Given the description of an element on the screen output the (x, y) to click on. 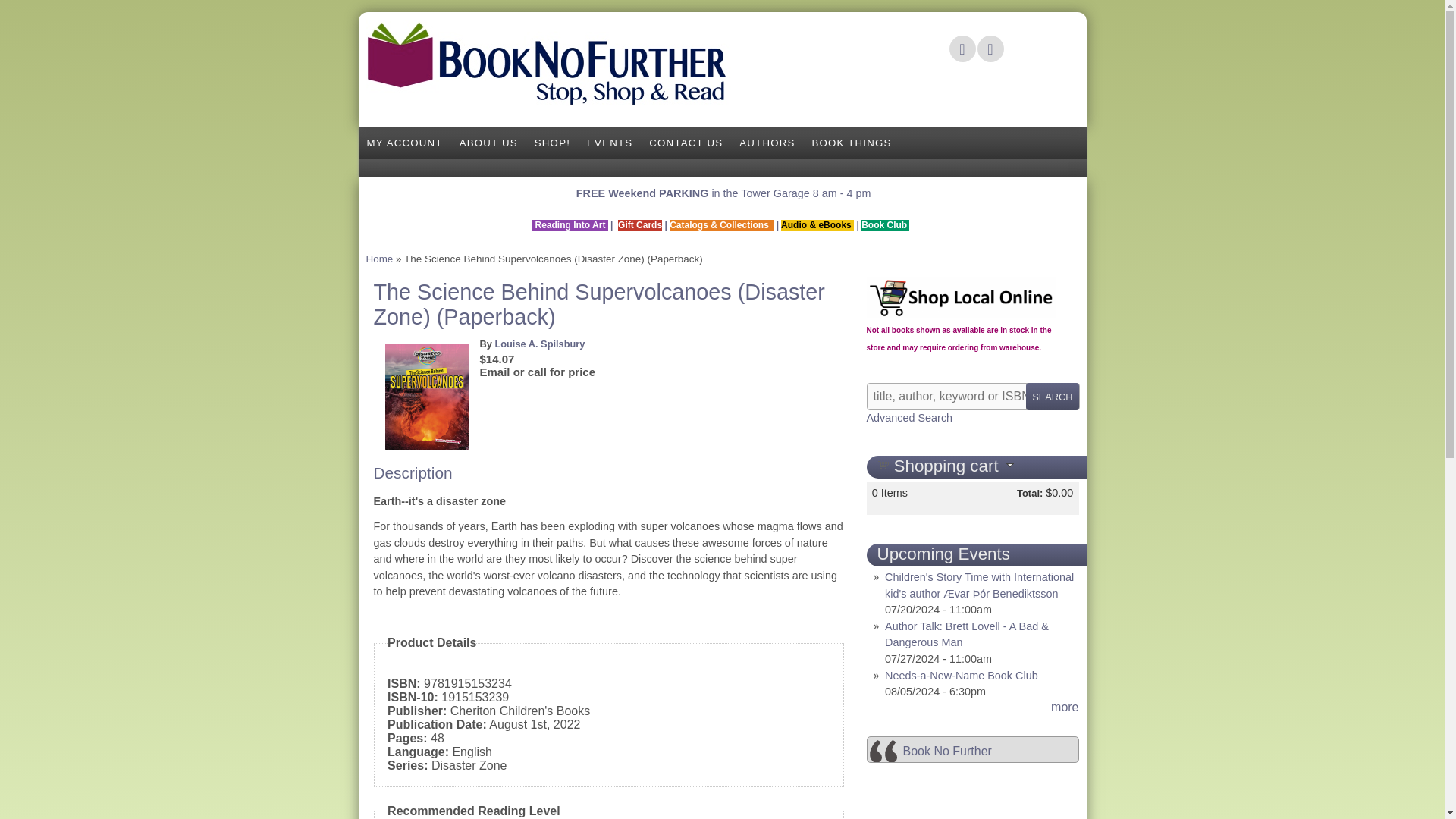
EVENTS (609, 142)
BOOK THINGS (851, 142)
SHOP! (551, 142)
Enter the terms you wish to search for. (972, 396)
AUTHORS (766, 142)
MY ACCOUNT (403, 142)
Search (1052, 396)
Programs, services, ideas and lists (851, 142)
View your shopping cart. (882, 463)
CONTACT US (685, 142)
ABOUT US (488, 142)
